Given the description of an element on the screen output the (x, y) to click on. 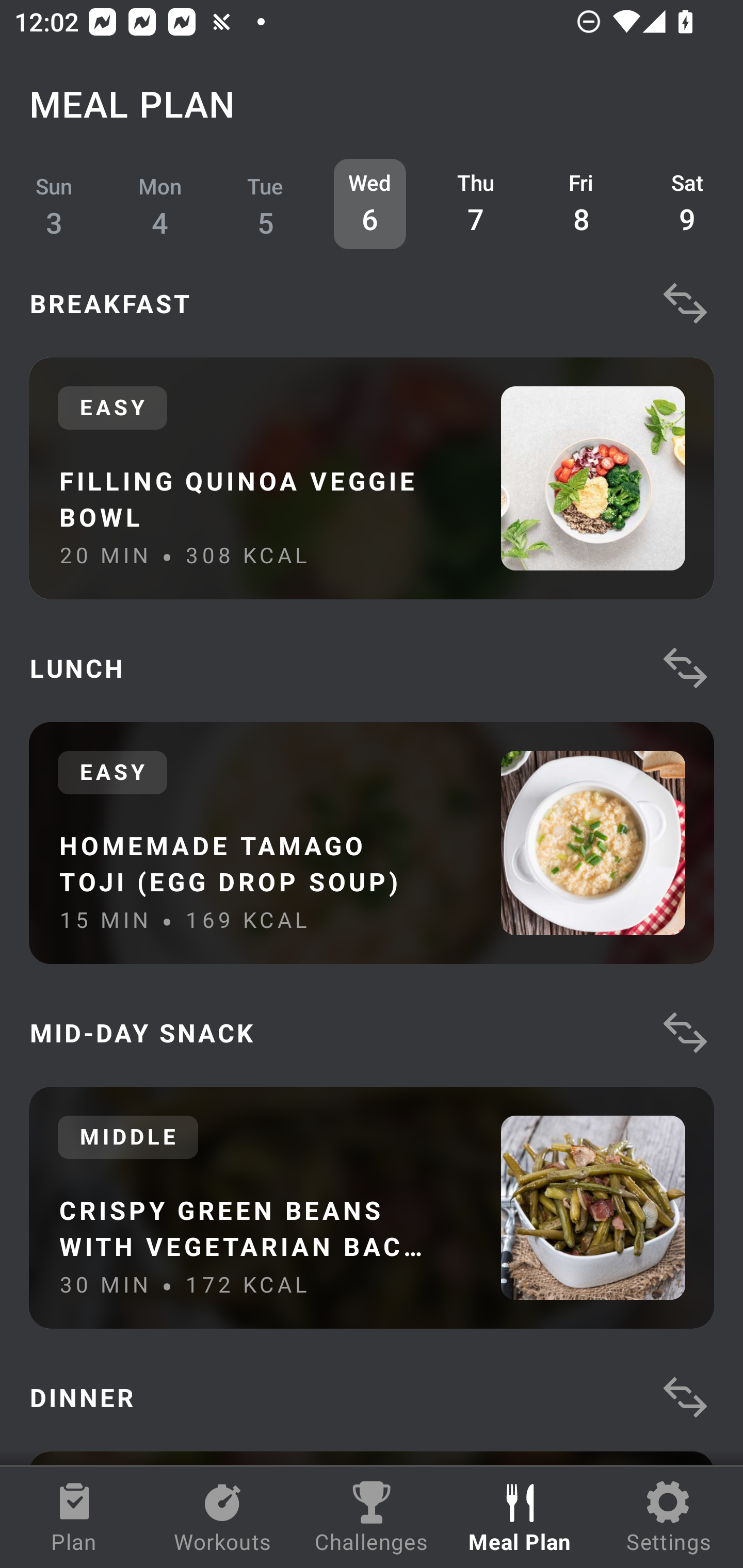
Wed 6 (369, 203)
Thu 7 (475, 203)
Fri 8 (581, 203)
Sat 9 (687, 203)
EASY FILLING QUINOA VEGGIE BOWL 20 MIN • 308 KCAL (371, 477)
 Plan  (74, 1517)
 Workouts  (222, 1517)
 Challenges  (371, 1517)
 Settings  (668, 1517)
